Given the description of an element on the screen output the (x, y) to click on. 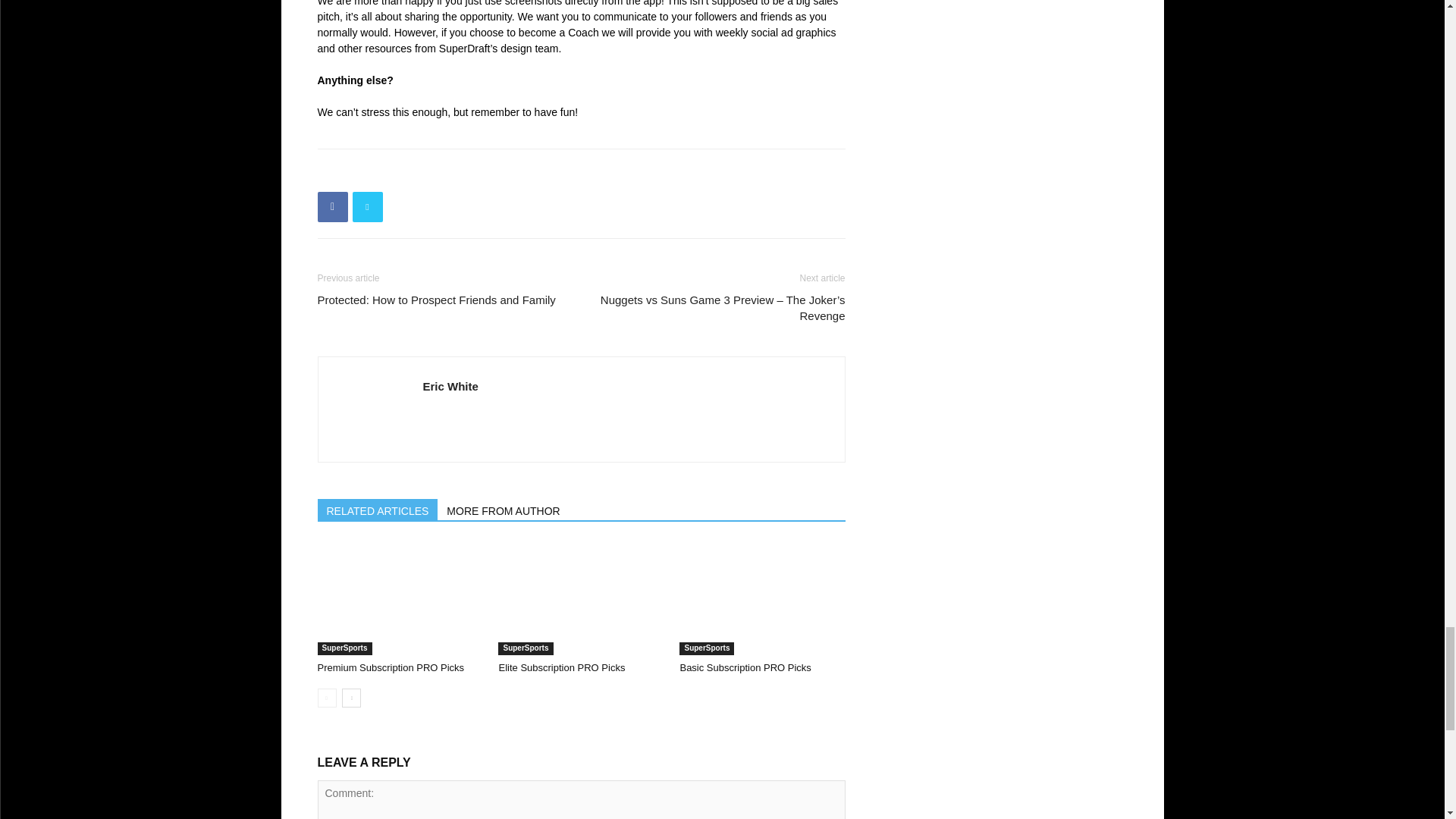
Elite Subscription PRO Picks (580, 598)
Premium Subscription PRO Picks (390, 667)
Premium Subscription PRO Picks (399, 598)
